Given the description of an element on the screen output the (x, y) to click on. 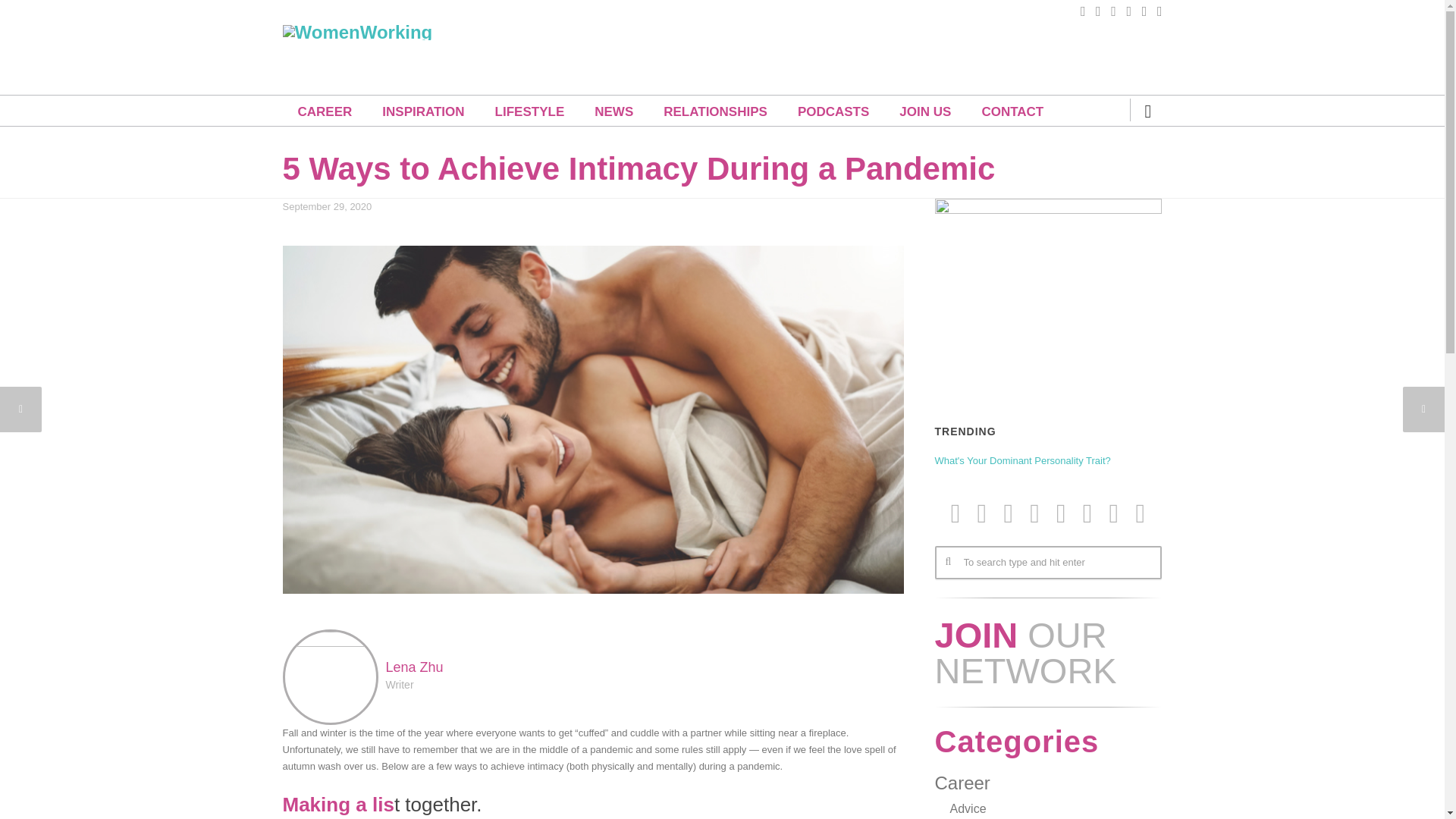
PODCASTS (833, 112)
To search type and hit enter (1047, 562)
RELATIONSHIPS (715, 112)
JOIN US (924, 112)
CAREER (324, 112)
NEWS (613, 112)
CONTACT (1012, 112)
LIFESTYLE (529, 112)
INSPIRATION (422, 112)
